Given the description of an element on the screen output the (x, y) to click on. 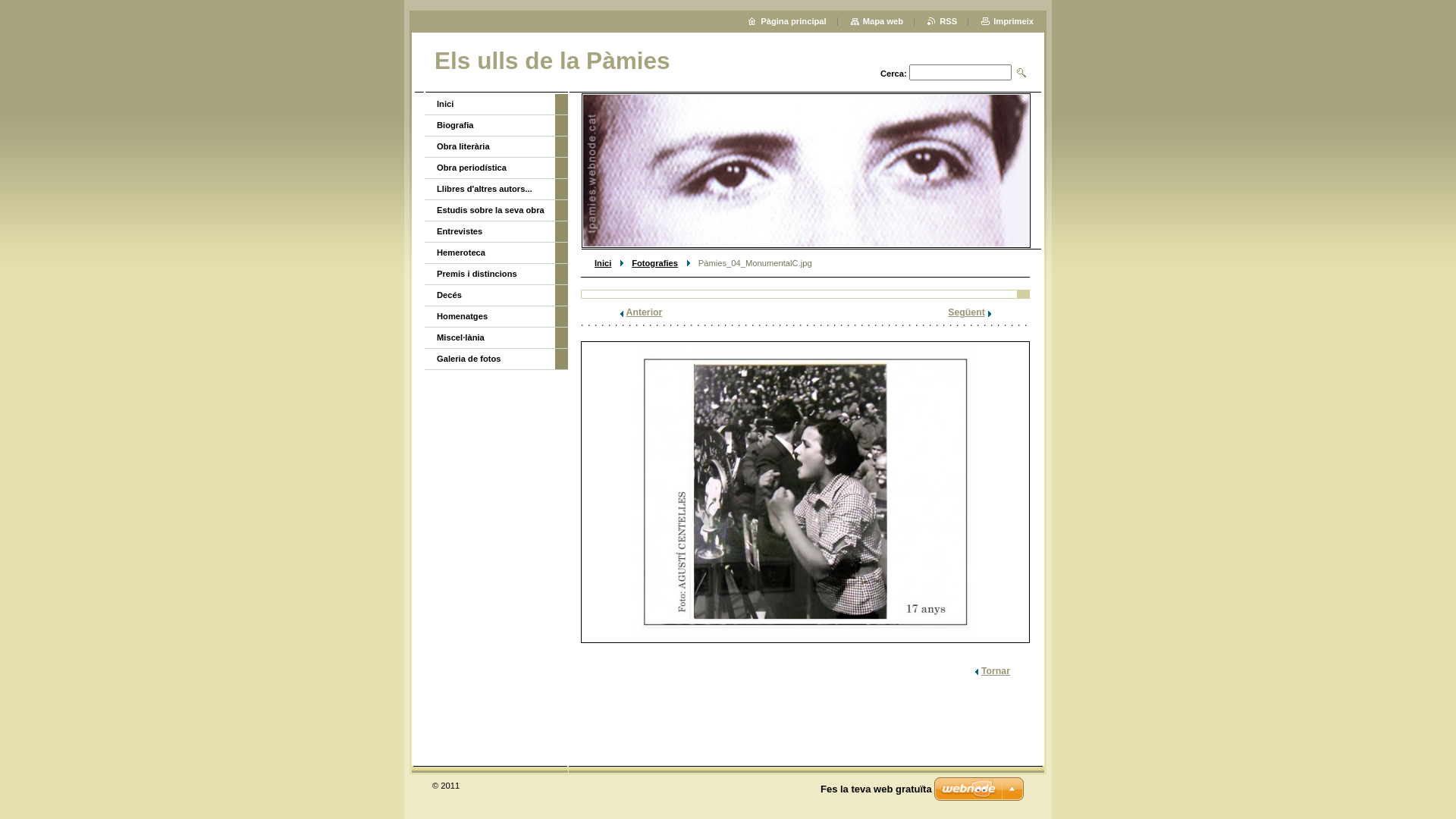
Llibres d'altres autors... Element type: text (489, 188)
Mapa web Element type: text (876, 20)
Premis i distincions Element type: text (489, 273)
Hemeroteca Element type: text (489, 252)
Inici Element type: text (602, 262)
Fotografies Element type: text (654, 262)
RSS Element type: text (942, 20)
Homenatges Element type: text (489, 316)
Biografia Element type: text (489, 125)
Entrevistes Element type: text (489, 231)
Galeria de fotos Element type: text (489, 358)
Inici Element type: text (489, 104)
Anterior Element type: text (641, 312)
Estudis sobre la seva obra Element type: text (489, 210)
Imprimeix Element type: text (1007, 20)
Tornar Element type: text (992, 670)
